Given the description of an element on the screen output the (x, y) to click on. 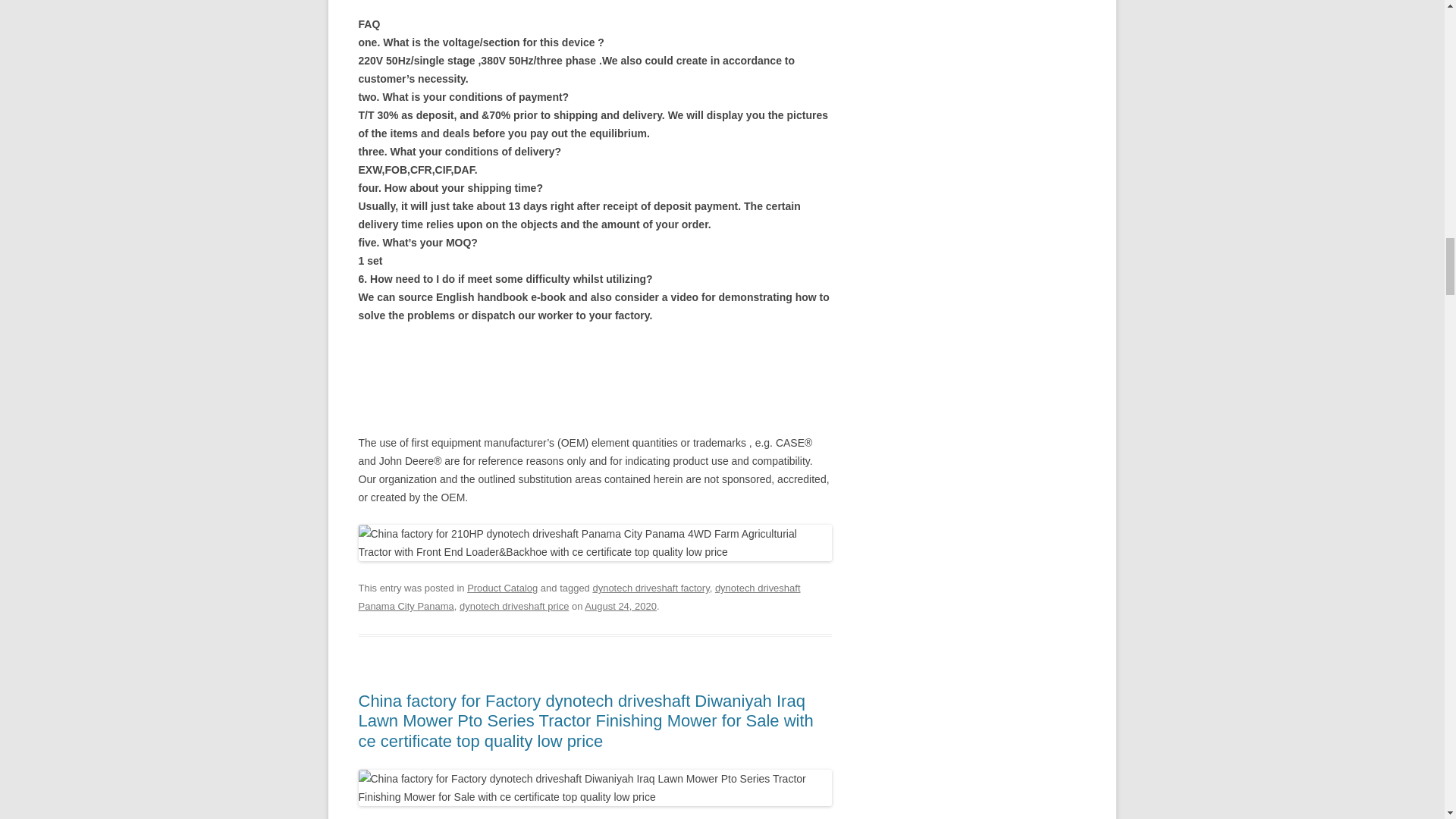
dynotech driveshaft price (514, 605)
4:31 am (620, 605)
dynotech driveshaft factory (650, 587)
dynotech driveshaft Panama City Panama (578, 596)
Product Catalog (502, 587)
August 24, 2020 (620, 605)
